Given the description of an element on the screen output the (x, y) to click on. 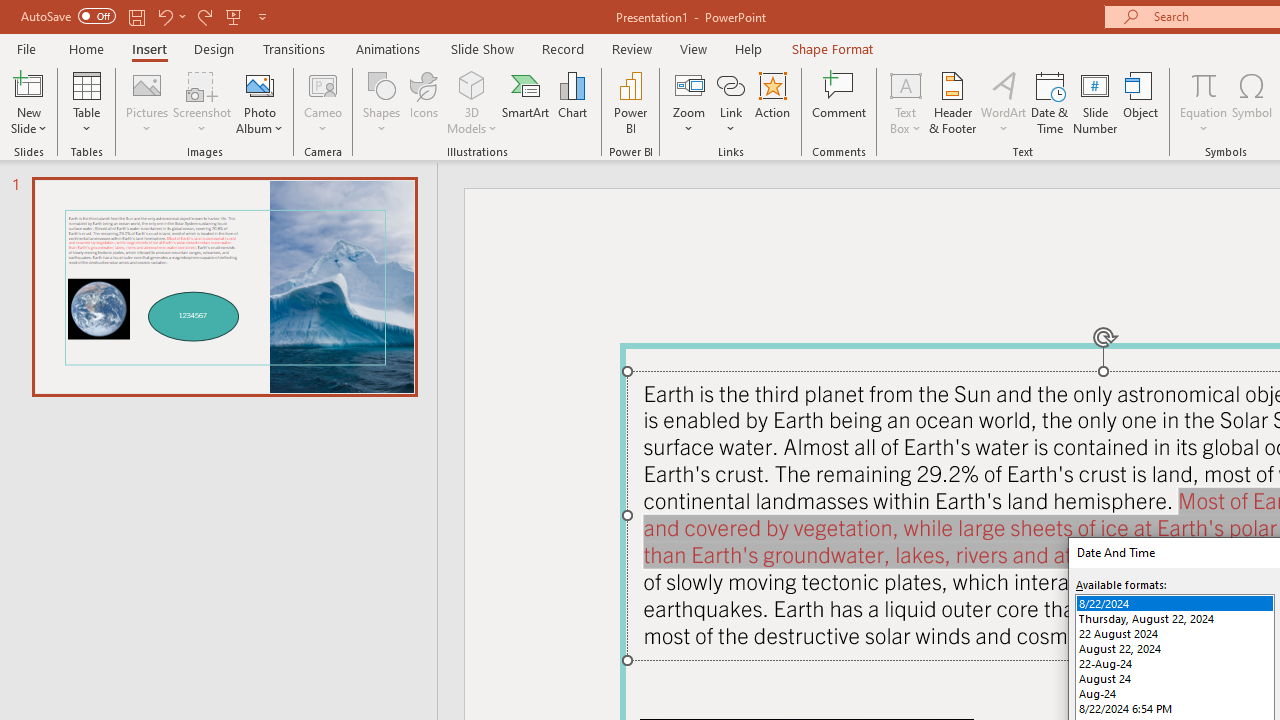
New Photo Album... (259, 84)
8/22/2024 6:54 PM (1174, 708)
Icons (424, 102)
Comment (839, 102)
Symbol... (1252, 102)
